Given the description of an element on the screen output the (x, y) to click on. 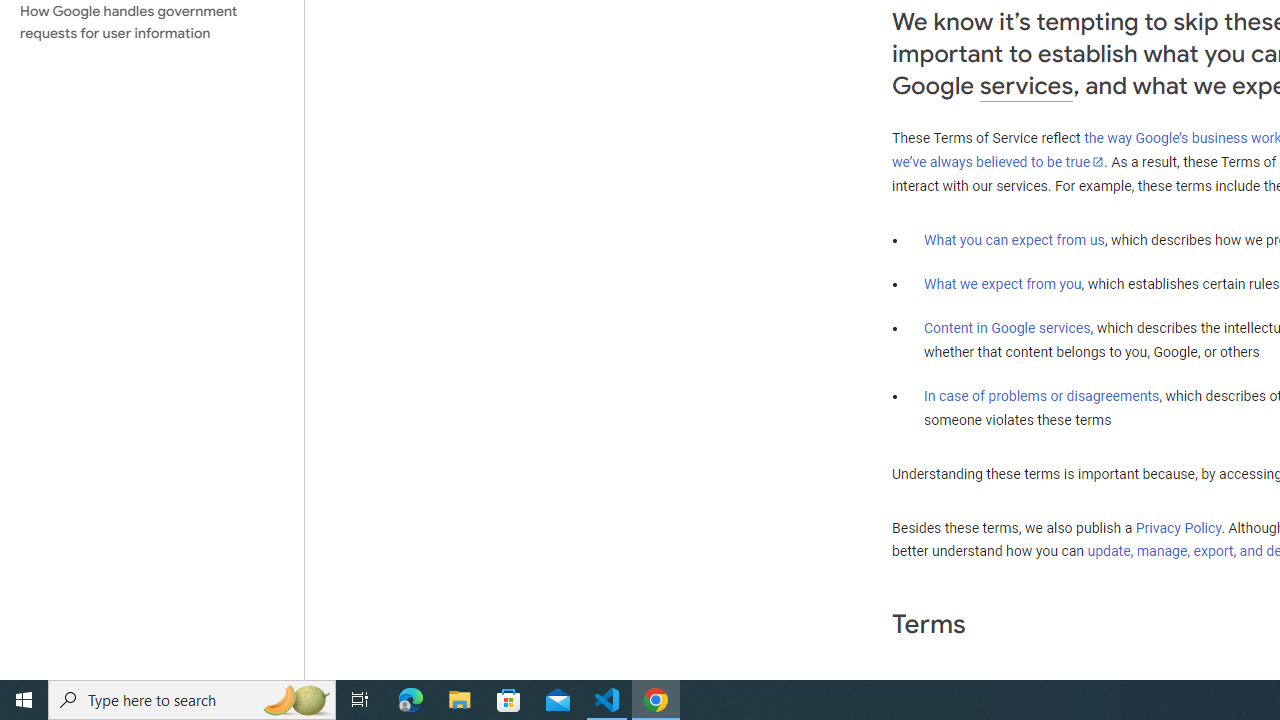
What we expect from you (1002, 284)
Content in Google services (1007, 327)
In case of problems or disagreements (1041, 395)
services (1026, 85)
What you can expect from us (1014, 240)
